Given the description of an element on the screen output the (x, y) to click on. 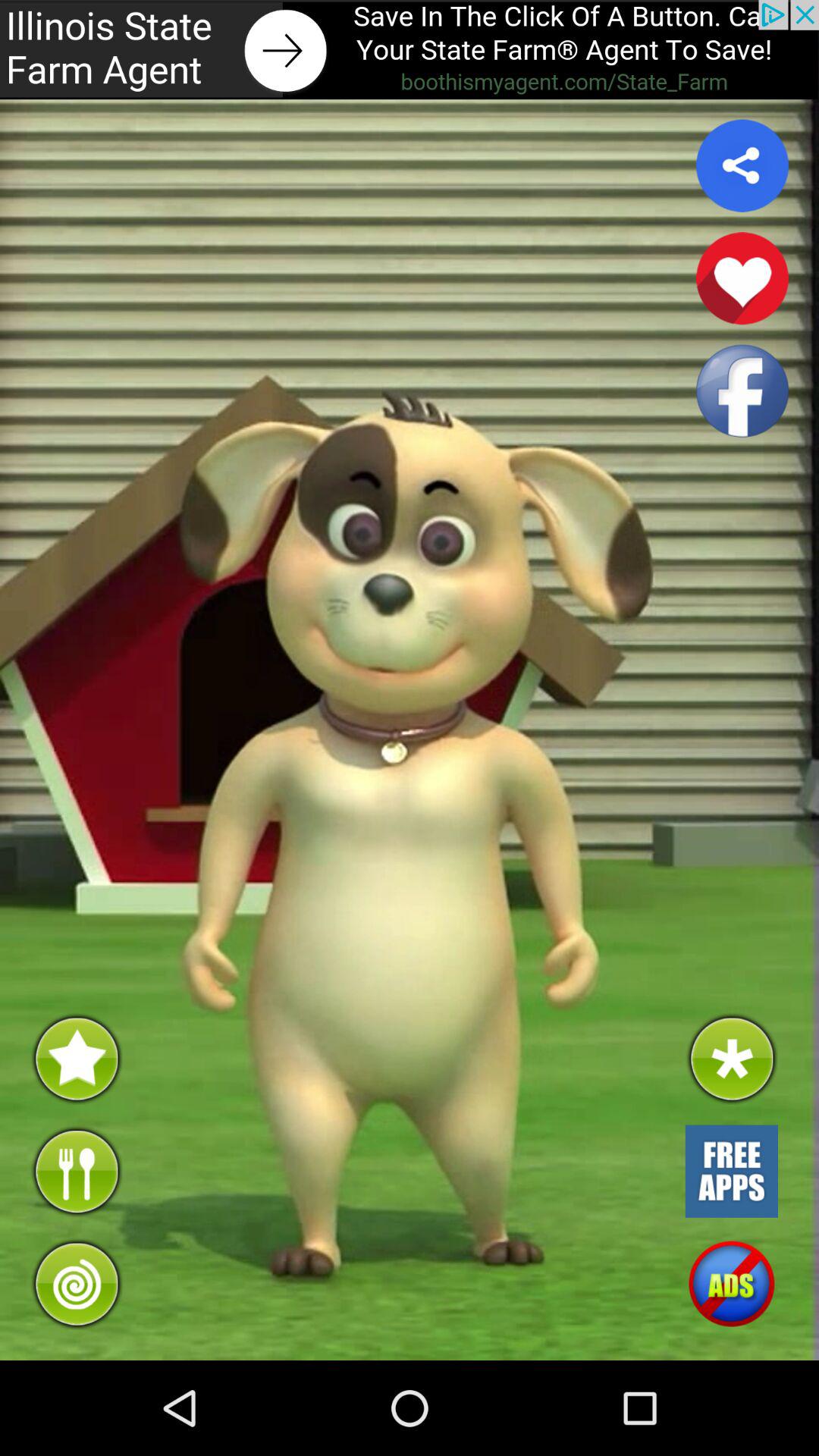
open advertisement (409, 49)
